Given the description of an element on the screen output the (x, y) to click on. 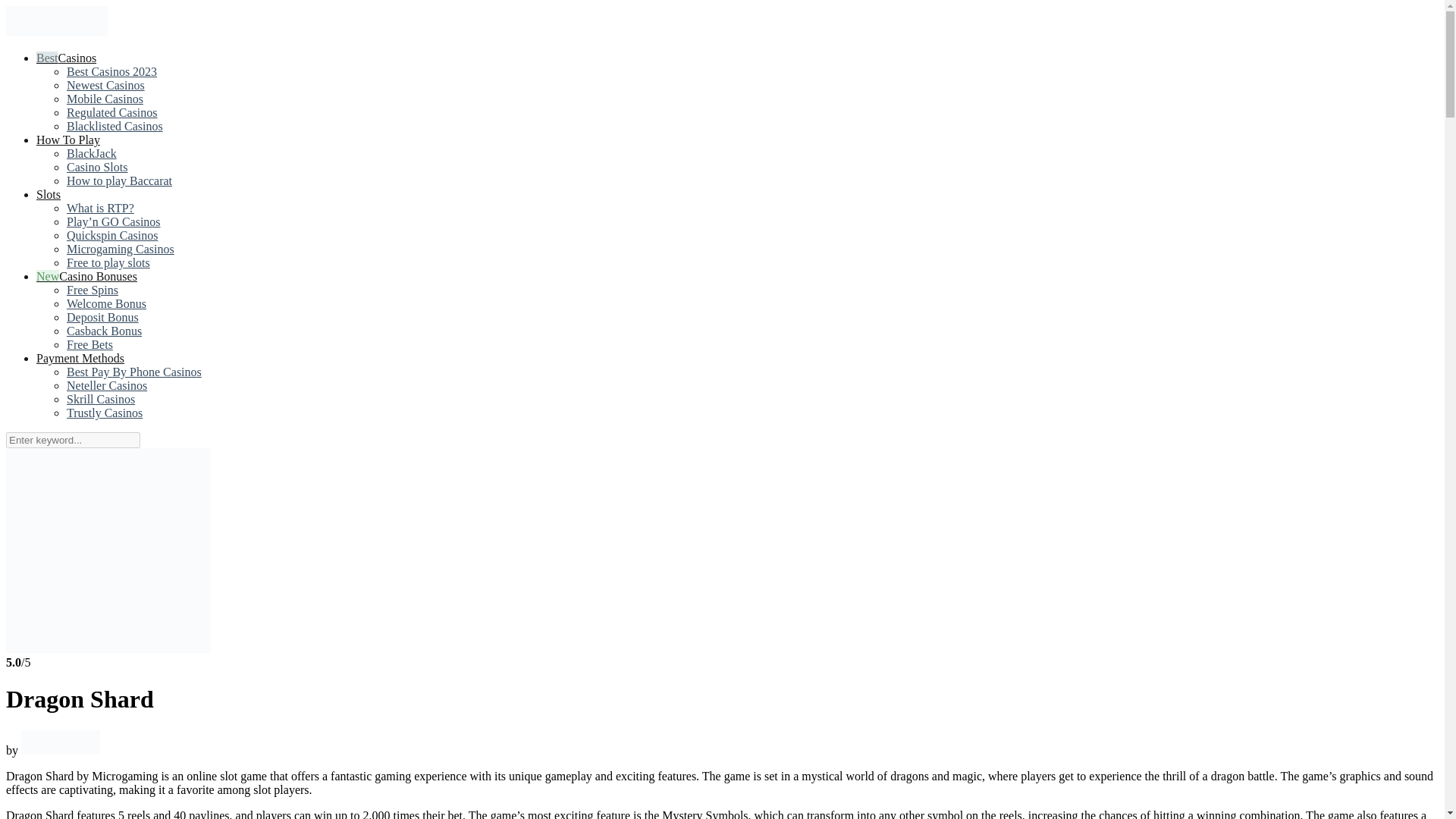
Casinos (66, 57)
Neteller Casinos (106, 386)
Microgaming Casinos (120, 249)
cogamblers (56, 31)
What is RTP? (99, 208)
Best Casinos 2023 (111, 71)
Best Pay By Phone Casinos (134, 372)
MicroGaming (60, 749)
Mobile Casinos (104, 99)
Slots (48, 194)
